Given the description of an element on the screen output the (x, y) to click on. 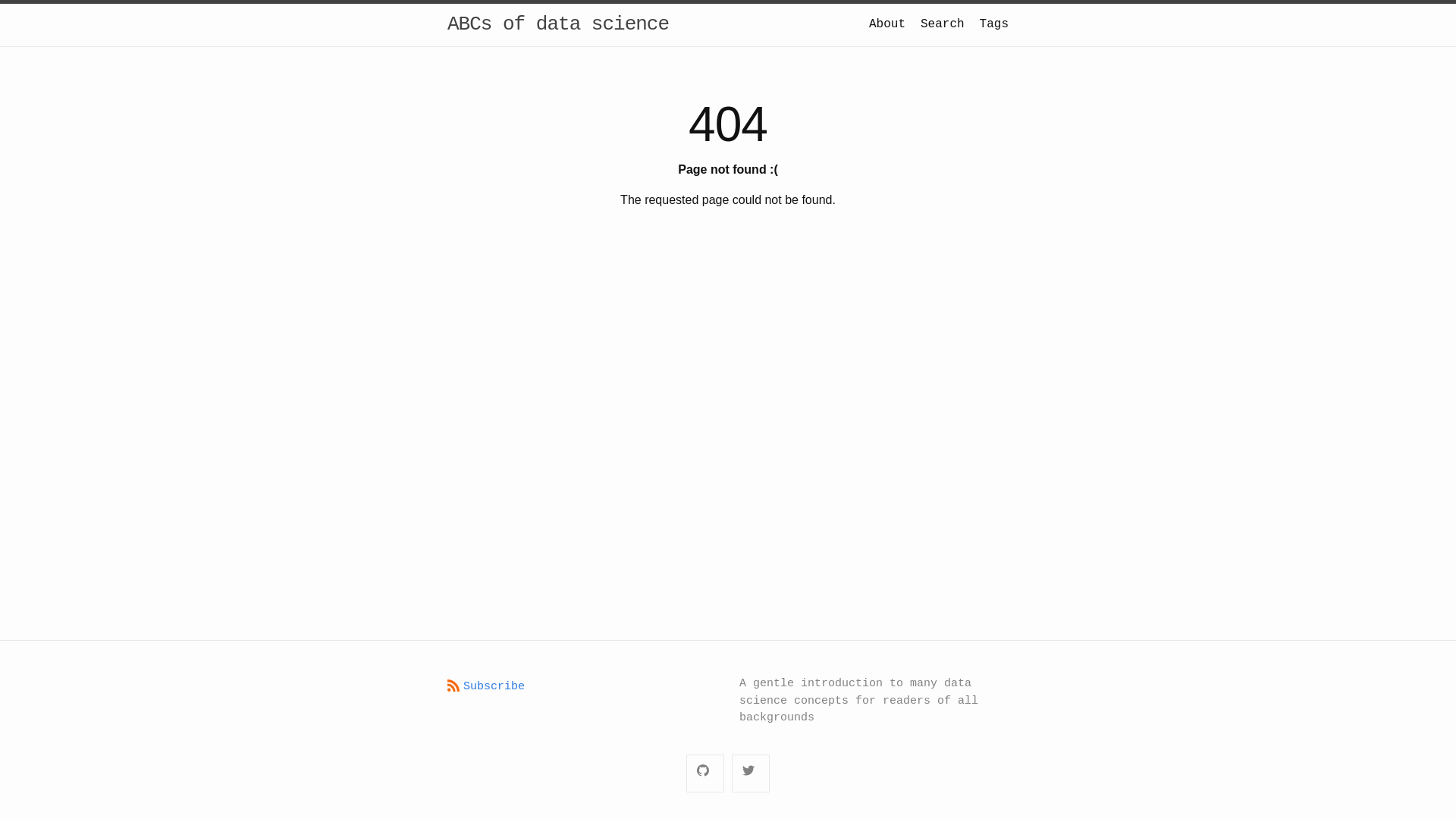
ABCs of data science Element type: text (557, 23)
Subscribe Element type: text (485, 686)
Search Element type: text (942, 24)
About Element type: text (887, 24)
Tags Element type: text (993, 24)
abcsofdatasci Element type: hover (750, 772)
gclen Element type: hover (705, 772)
